Given the description of an element on the screen output the (x, y) to click on. 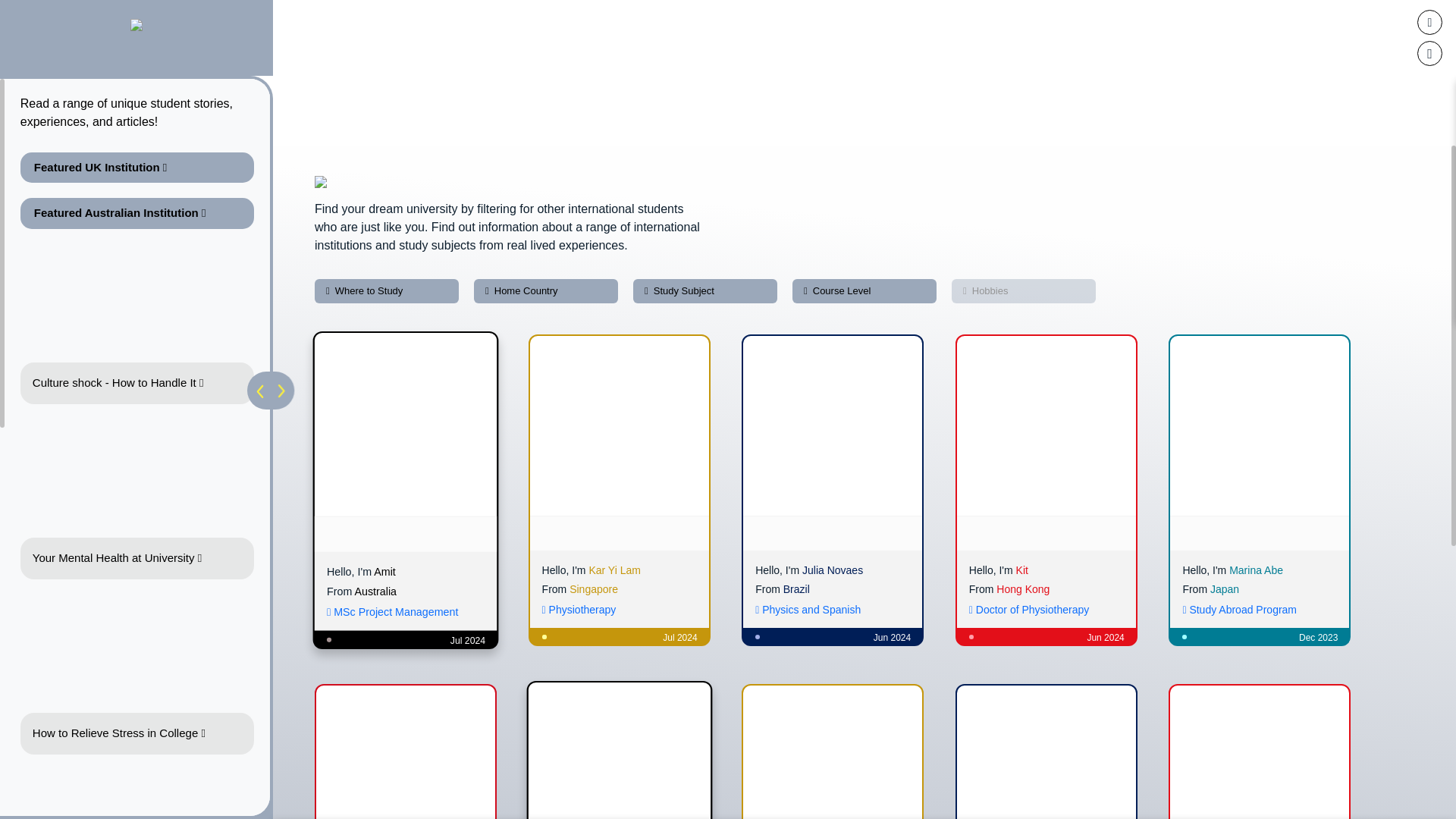
 MSc Project Management (390, 612)
Featured UK Institution (136, 167)
 Study Abroad Program (1239, 609)
 Physics and Spanish (807, 609)
 Physiotherapy (578, 609)
 Doctor of Physiotherapy (1029, 609)
Featured Australian Institution (136, 213)
